Given the description of an element on the screen output the (x, y) to click on. 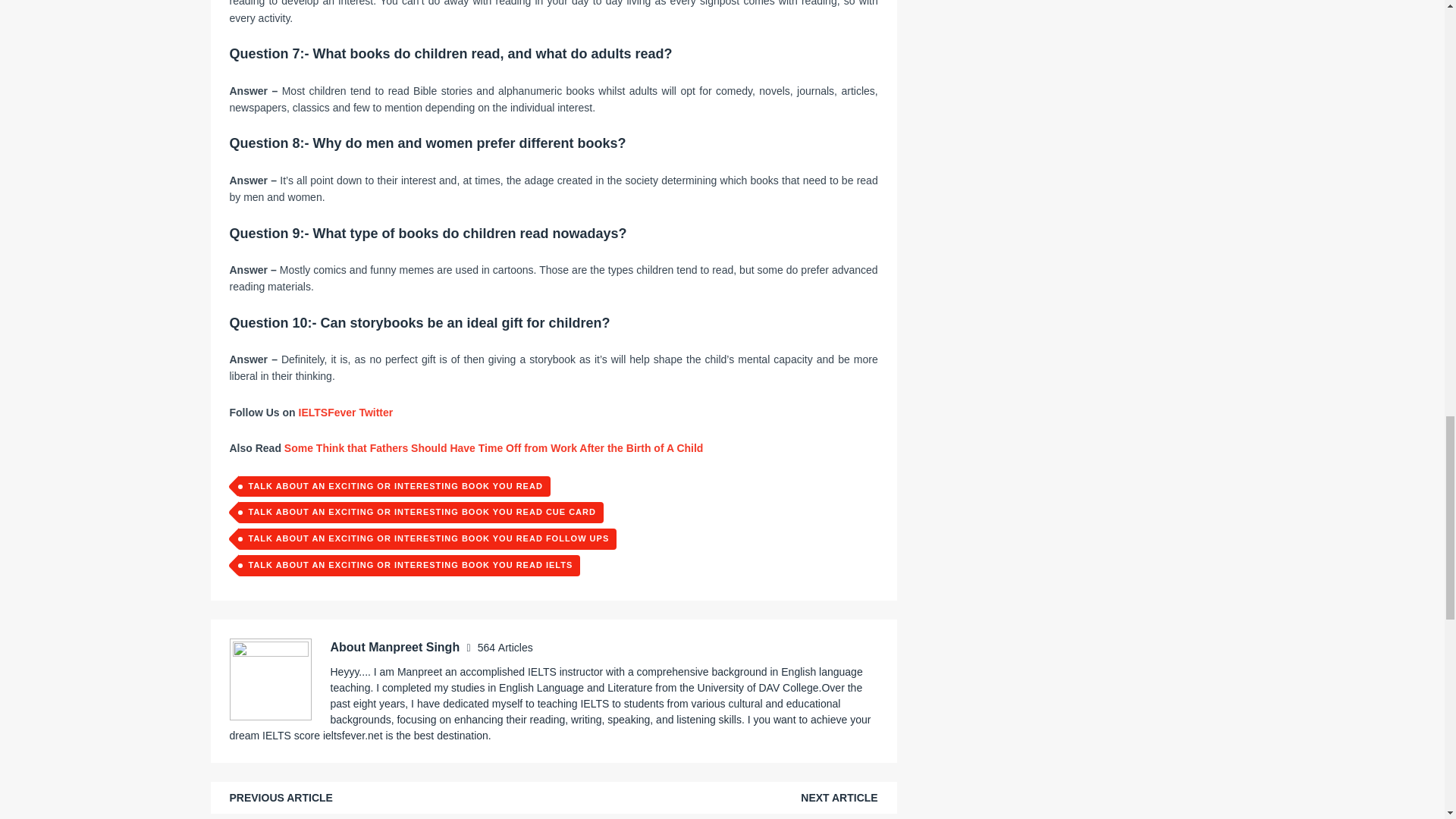
NEXT ARTICLE (838, 797)
 IELTSFever Twitter (344, 412)
TALK ABOUT AN EXCITING OR INTERESTING BOOK YOU READ (392, 486)
PREVIOUS ARTICLE (279, 797)
TALK ABOUT AN EXCITING OR INTERESTING BOOK YOU READ CUE CARD (418, 512)
More articles written by Manpreet Singh' (504, 647)
TALK ABOUT AN EXCITING OR INTERESTING BOOK YOU READ IELTS (407, 565)
564 Articles (504, 647)
